Given the description of an element on the screen output the (x, y) to click on. 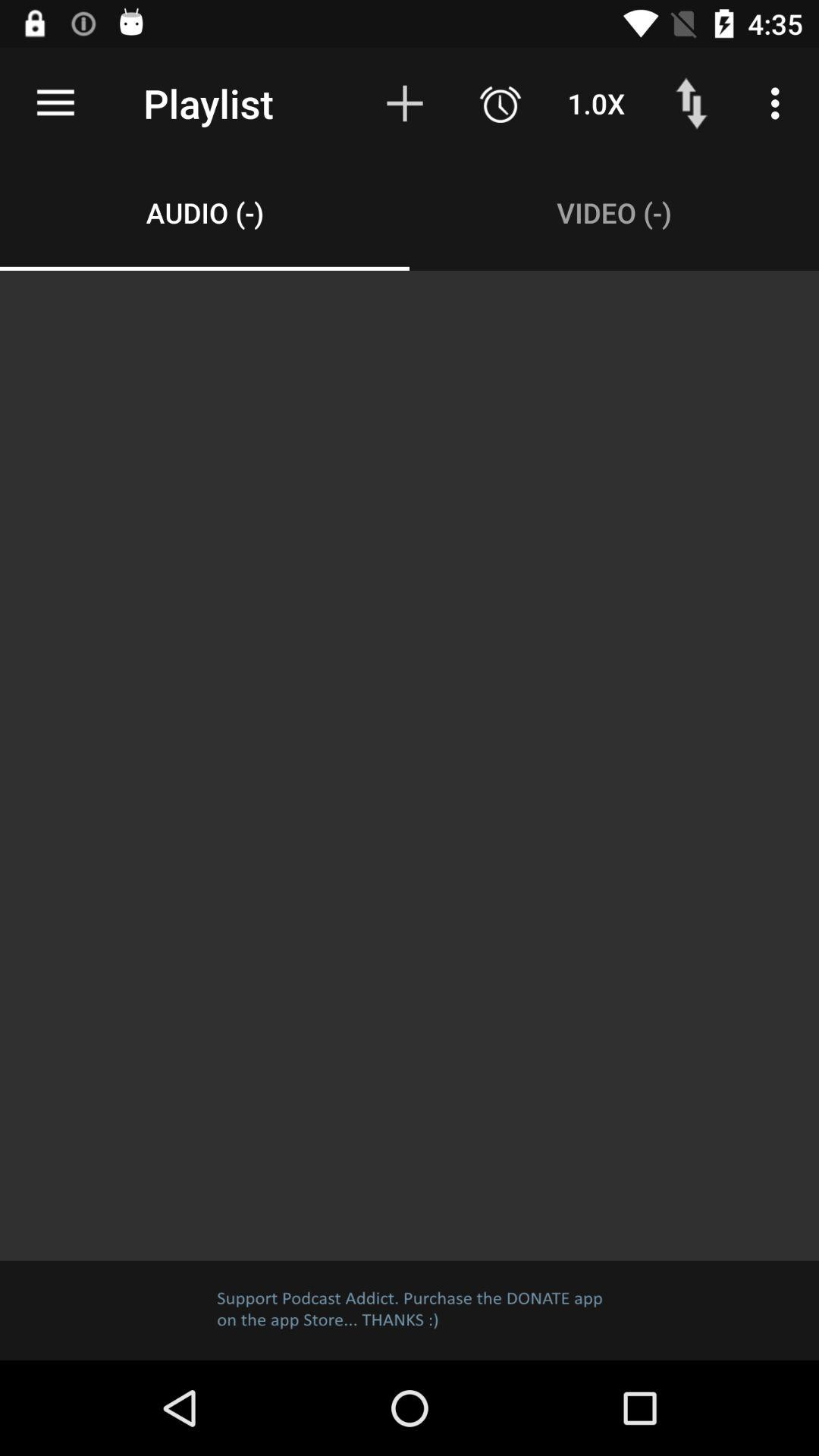
choose icon next to 1.0x item (500, 103)
